Given the description of an element on the screen output the (x, y) to click on. 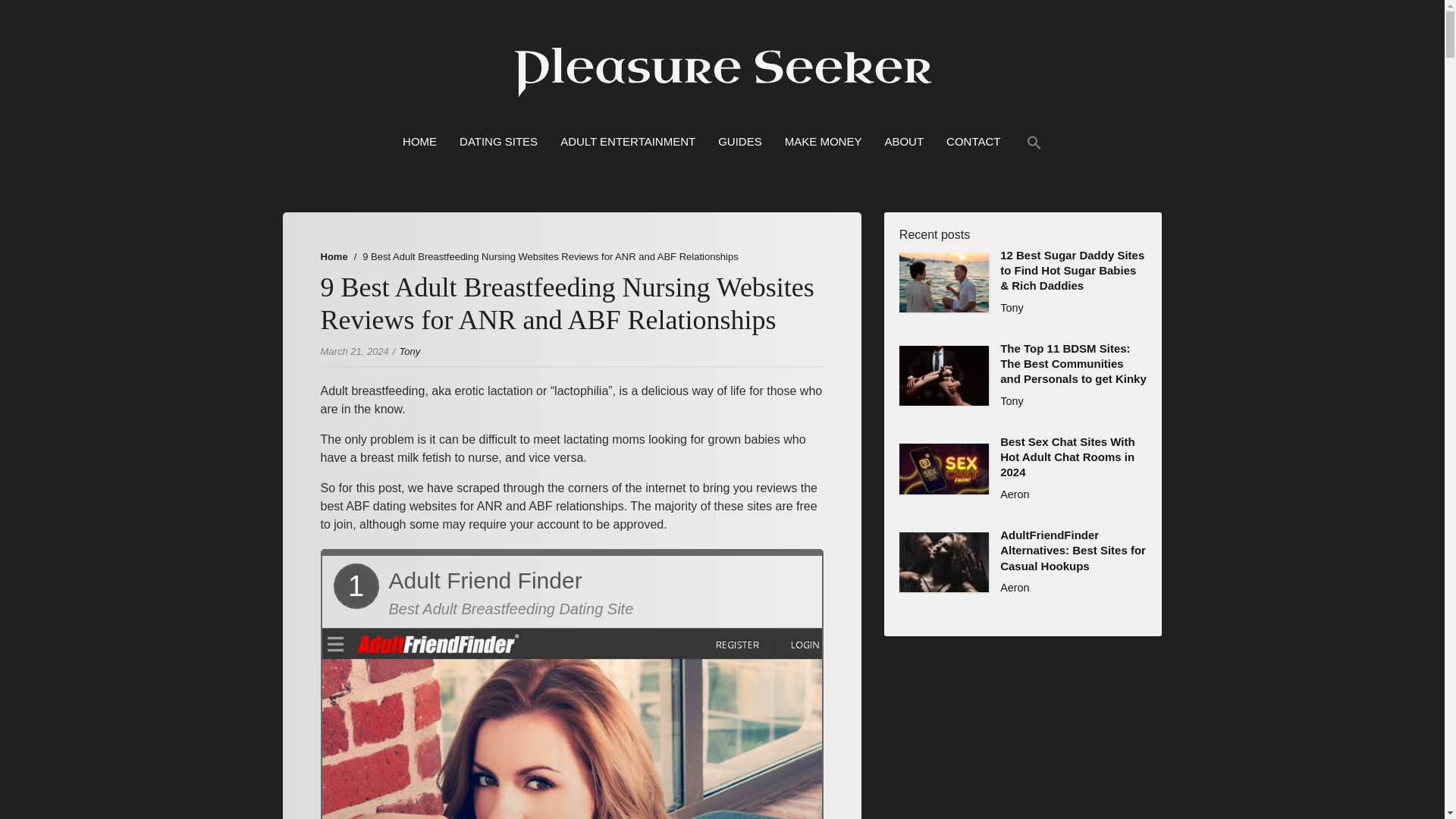
DATING SITES (498, 141)
ADULT ENTERTAINMENT (627, 141)
HOME (419, 141)
GUIDES (739, 141)
MAKE MONEY (822, 141)
